Given the description of an element on the screen output the (x, y) to click on. 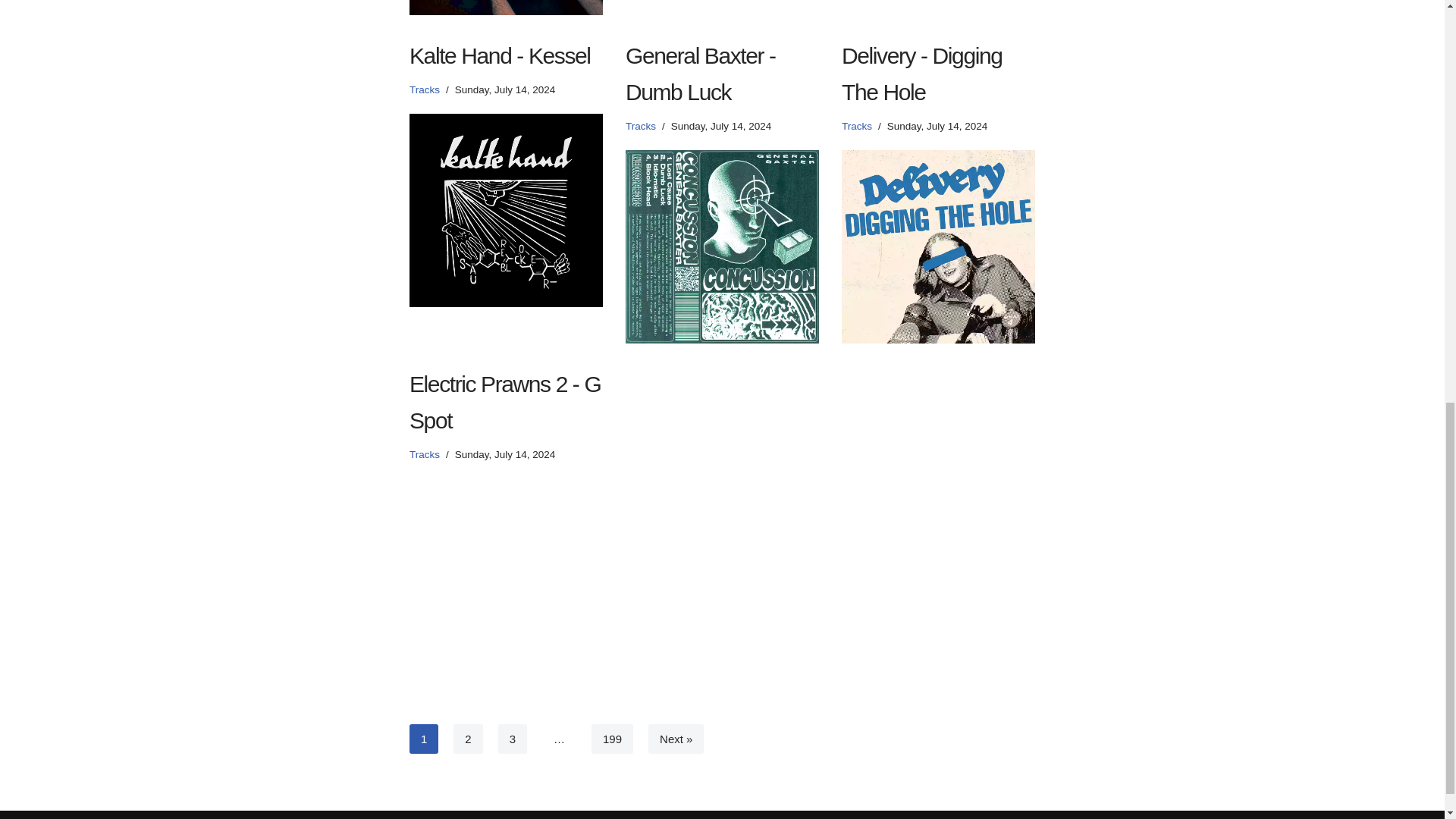
Delivery - Digging The Hole (938, 246)
General Baxter - Dumb Luck (722, 246)
Showroom Dummies - Showroom Dummies (505, 7)
Electric Prawns 2 - G Spot (505, 573)
Kalte Hand - Kessel (505, 210)
